Given the description of an element on the screen output the (x, y) to click on. 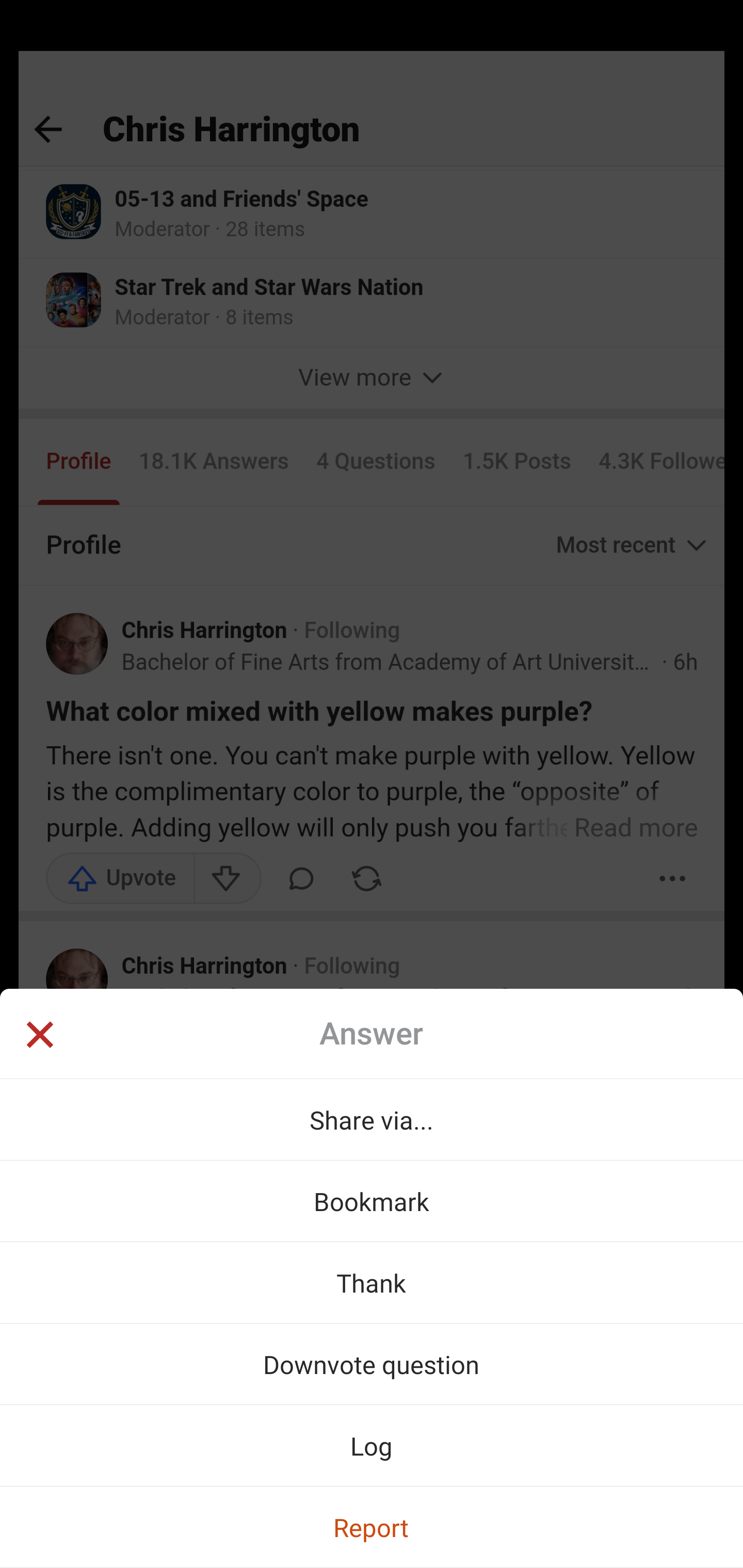
 Answer (371, 1033)
 (39, 1036)
Share via... (371, 1119)
Bookmark (371, 1200)
Thank (371, 1282)
Downvote question (371, 1363)
Log (371, 1445)
Report (371, 1527)
